Given the description of an element on the screen output the (x, y) to click on. 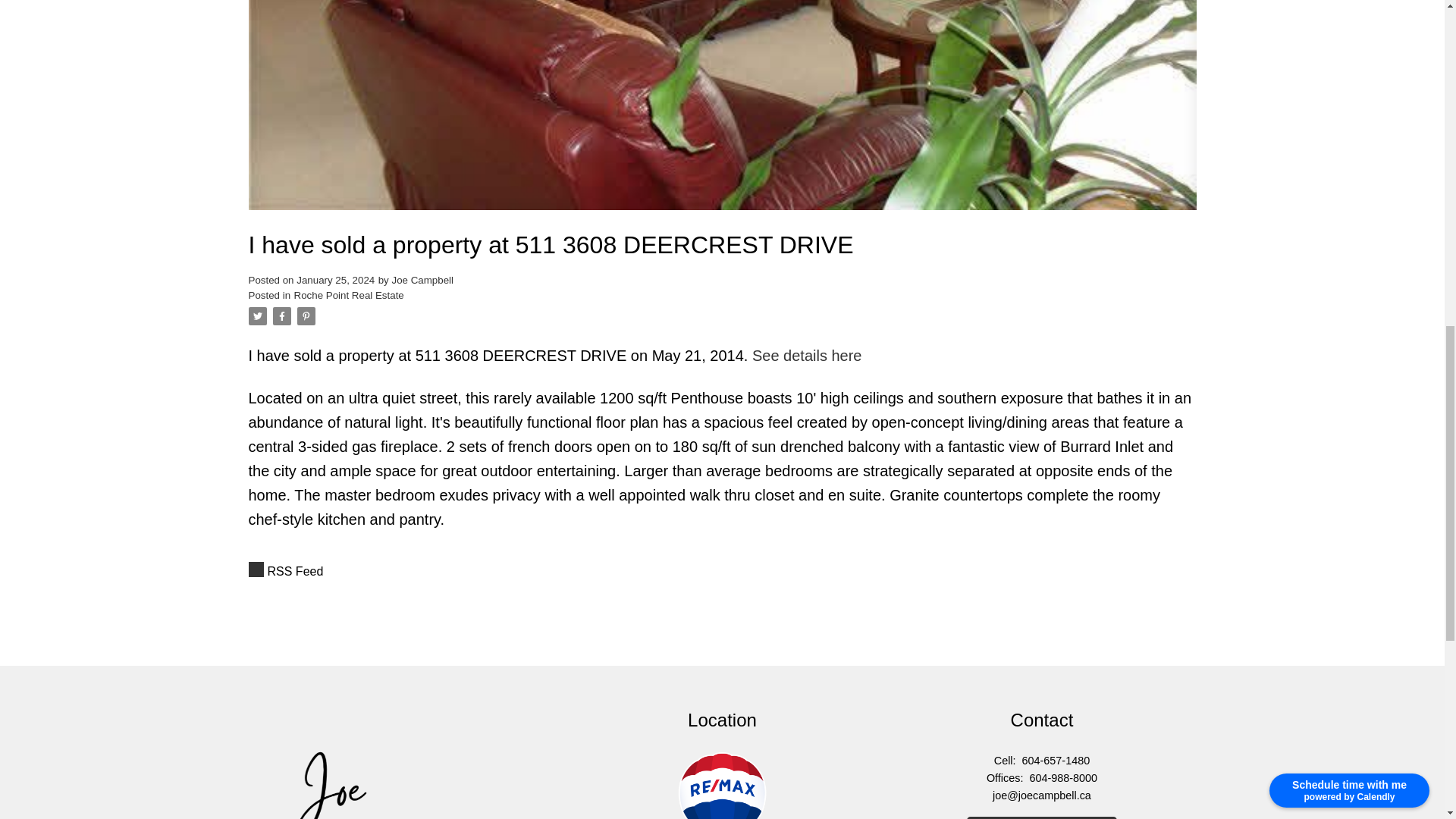
Roche Point Real Estate (349, 295)
RSS (722, 571)
See details here (806, 355)
